Given the description of an element on the screen output the (x, y) to click on. 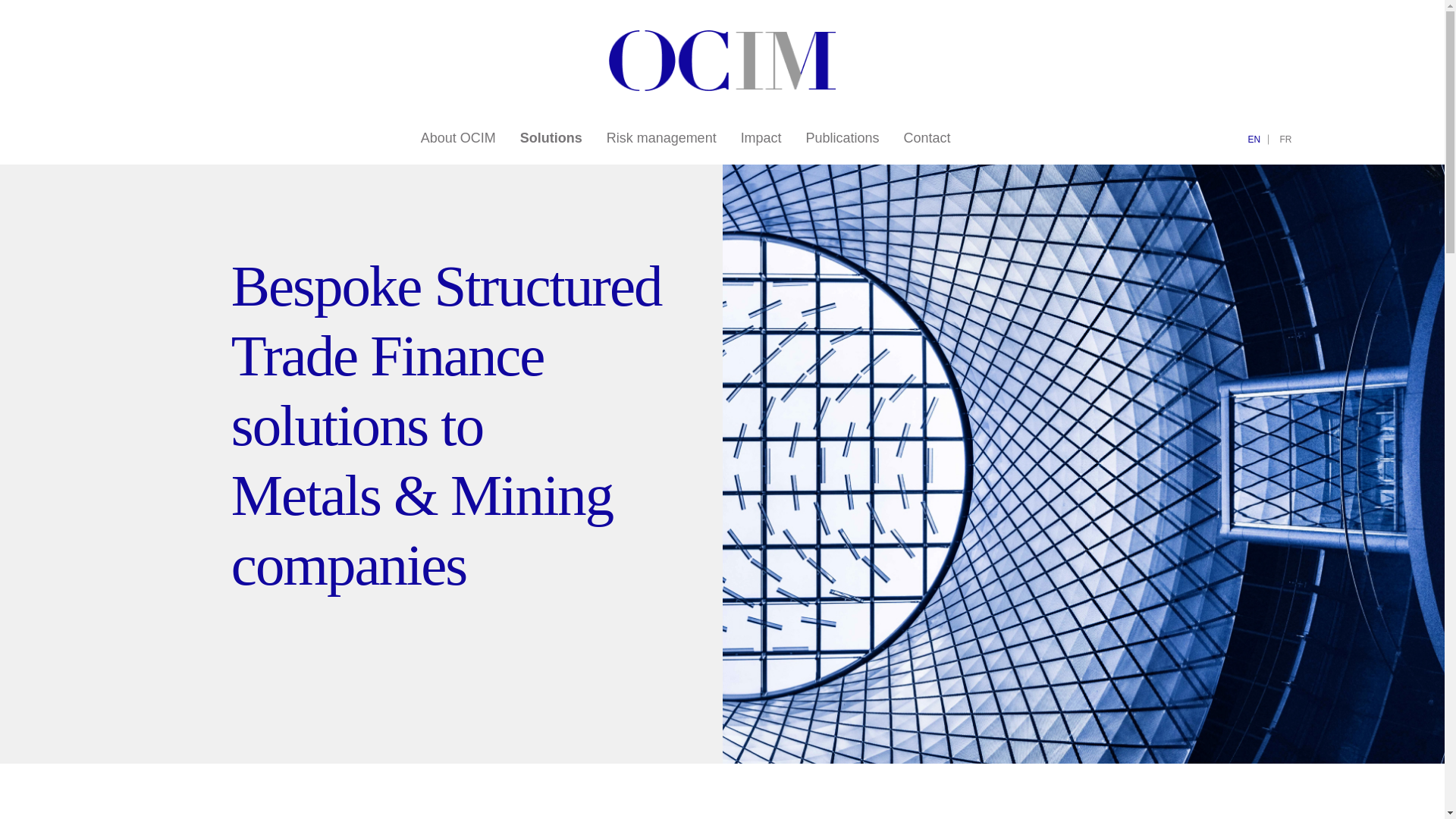
Impact (761, 138)
Solutions (550, 138)
EN (1253, 139)
FR (1285, 139)
About OCIM (458, 138)
Publications (842, 138)
OCIM (721, 86)
Risk management (661, 138)
Contact (927, 138)
